Given the description of an element on the screen output the (x, y) to click on. 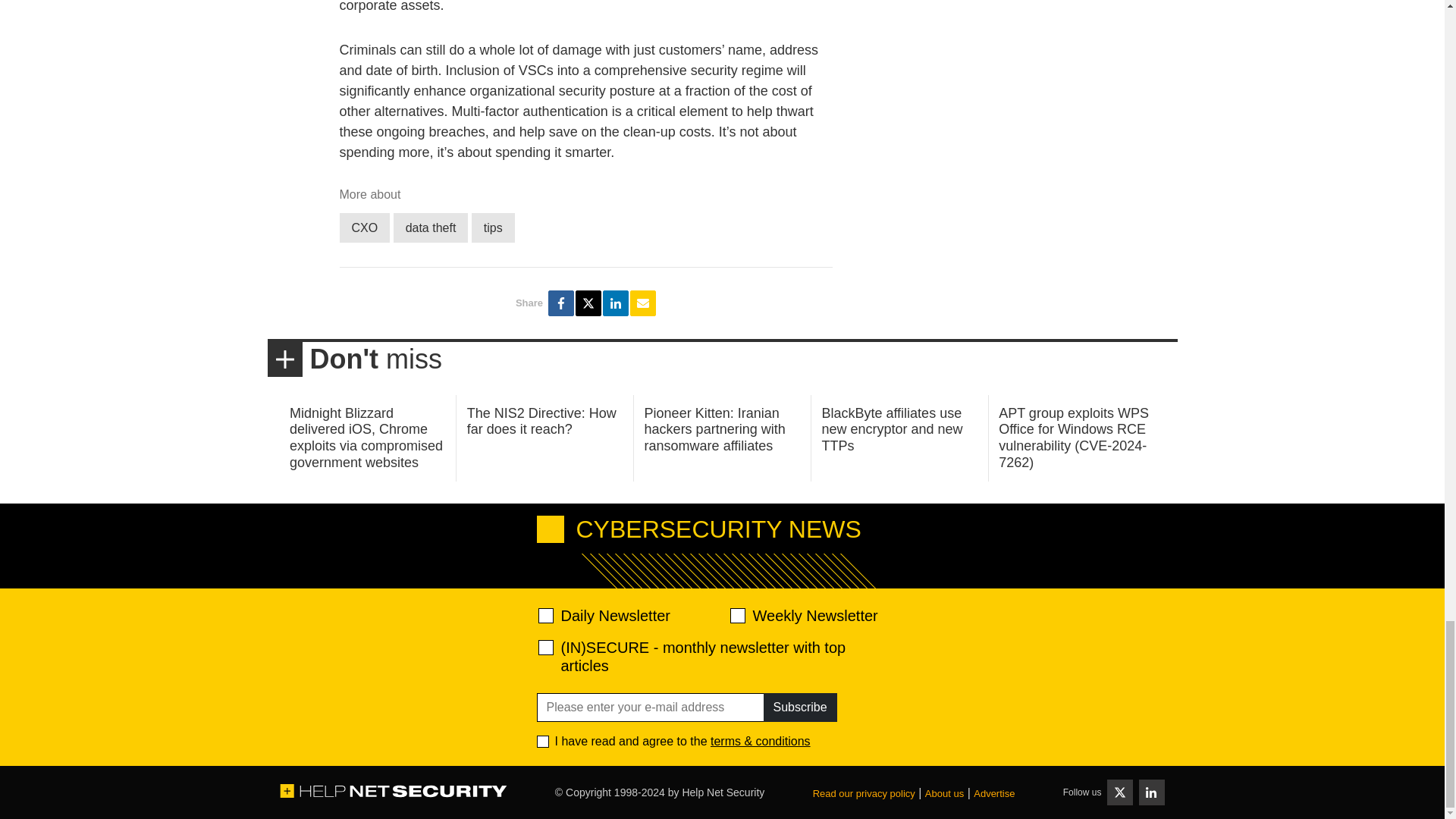
Share Cost of breach vs. cost of deployment on Facebook (560, 303)
Share Cost of breach vs. cost of deployment on LinkedIn (615, 303)
The NIS2 Directive: How far does it reach? (541, 421)
data theft (430, 227)
tips (493, 227)
28abe5d9ef (545, 647)
Share Cost of breach vs. cost of deployment on Twitter (588, 303)
d2d471aafa (736, 615)
